Given the description of an element on the screen output the (x, y) to click on. 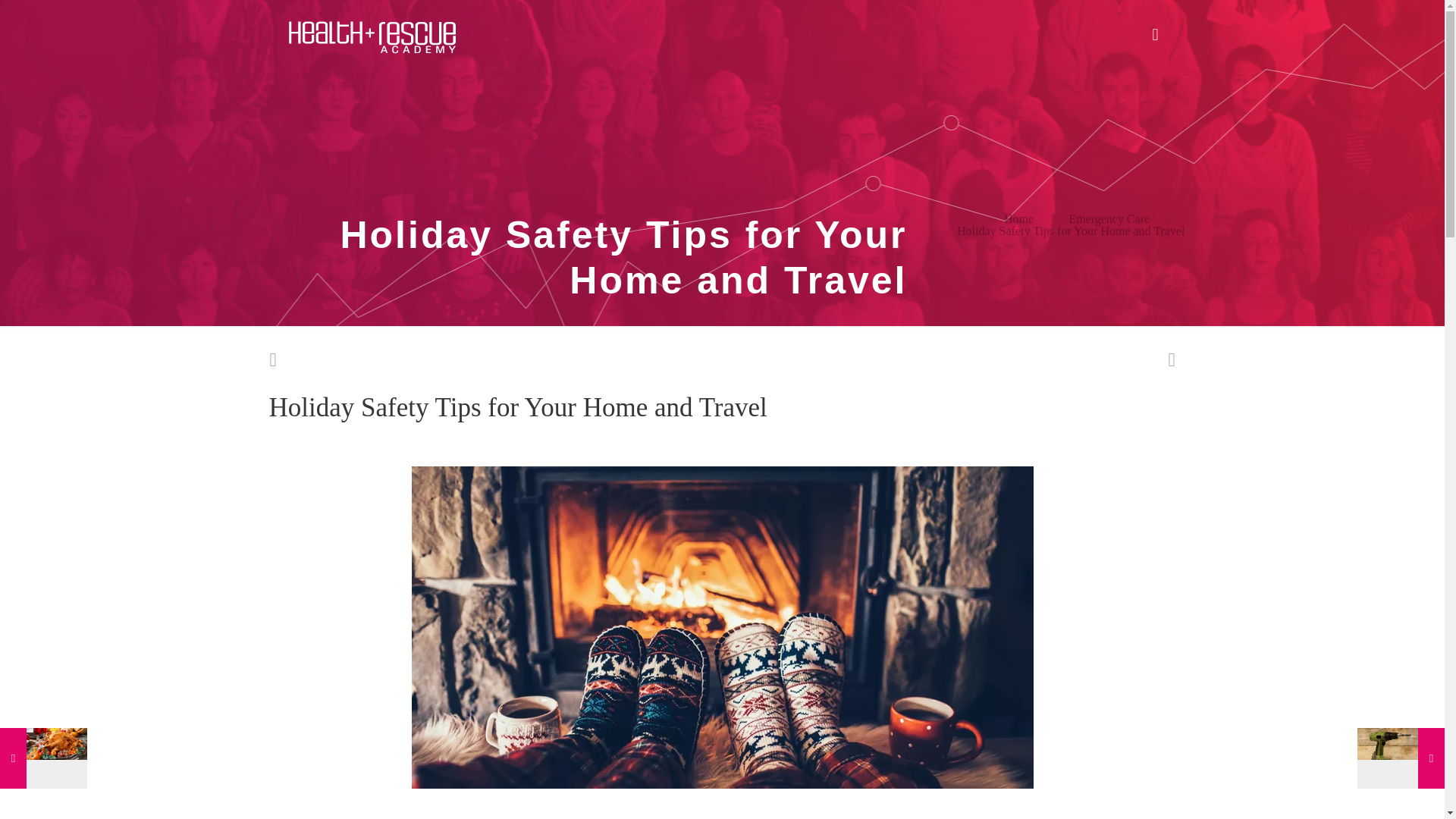
Healthandrescue (370, 34)
Emergency Care (1109, 218)
Home (1018, 218)
